Given the description of an element on the screen output the (x, y) to click on. 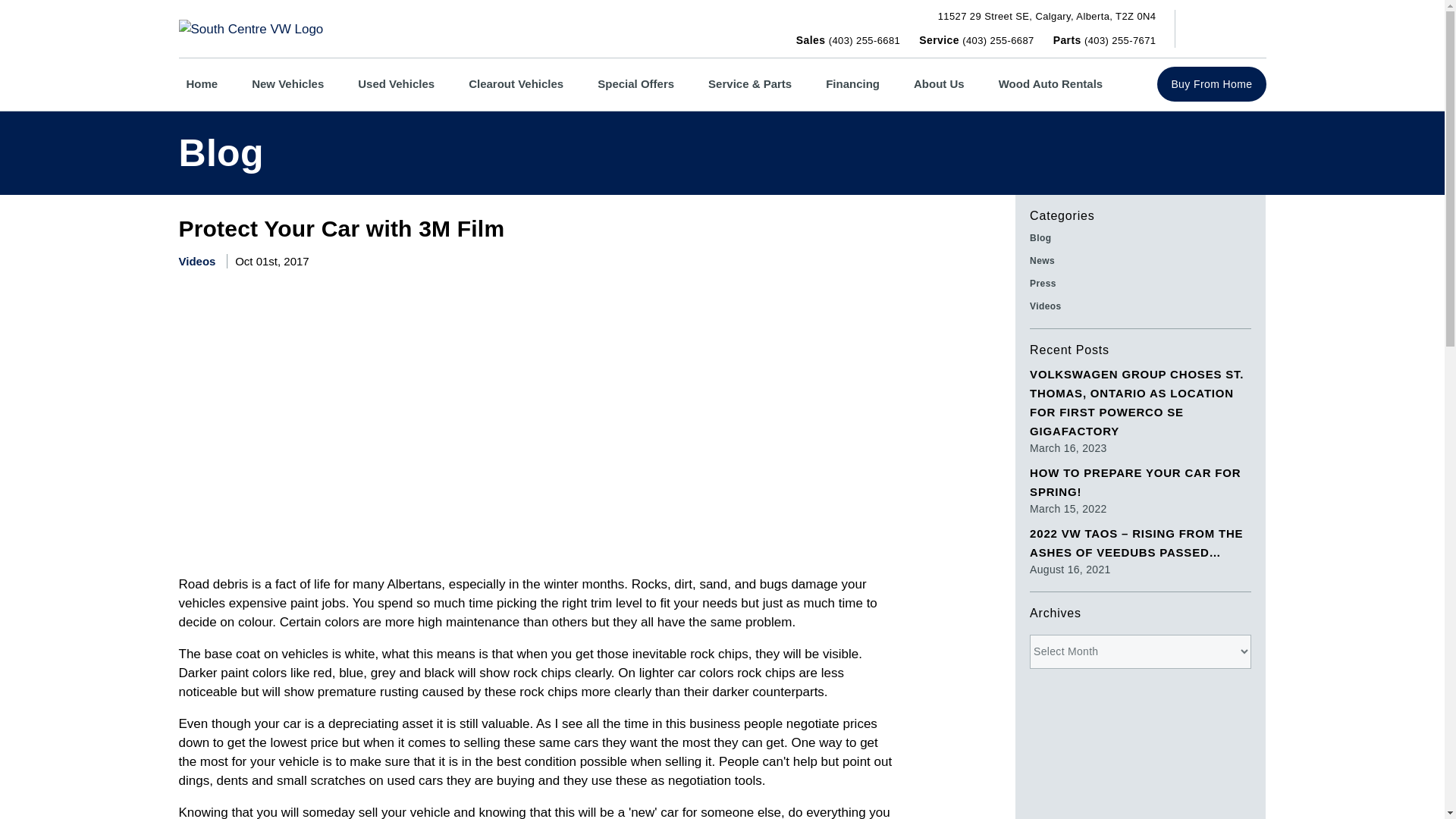
Clearout Vehicles (1046, 16)
Buy From Home (515, 84)
Used Vehicles (1211, 83)
Special Offers (396, 84)
Home (635, 84)
New Vehicles (202, 84)
